Given the description of an element on the screen output the (x, y) to click on. 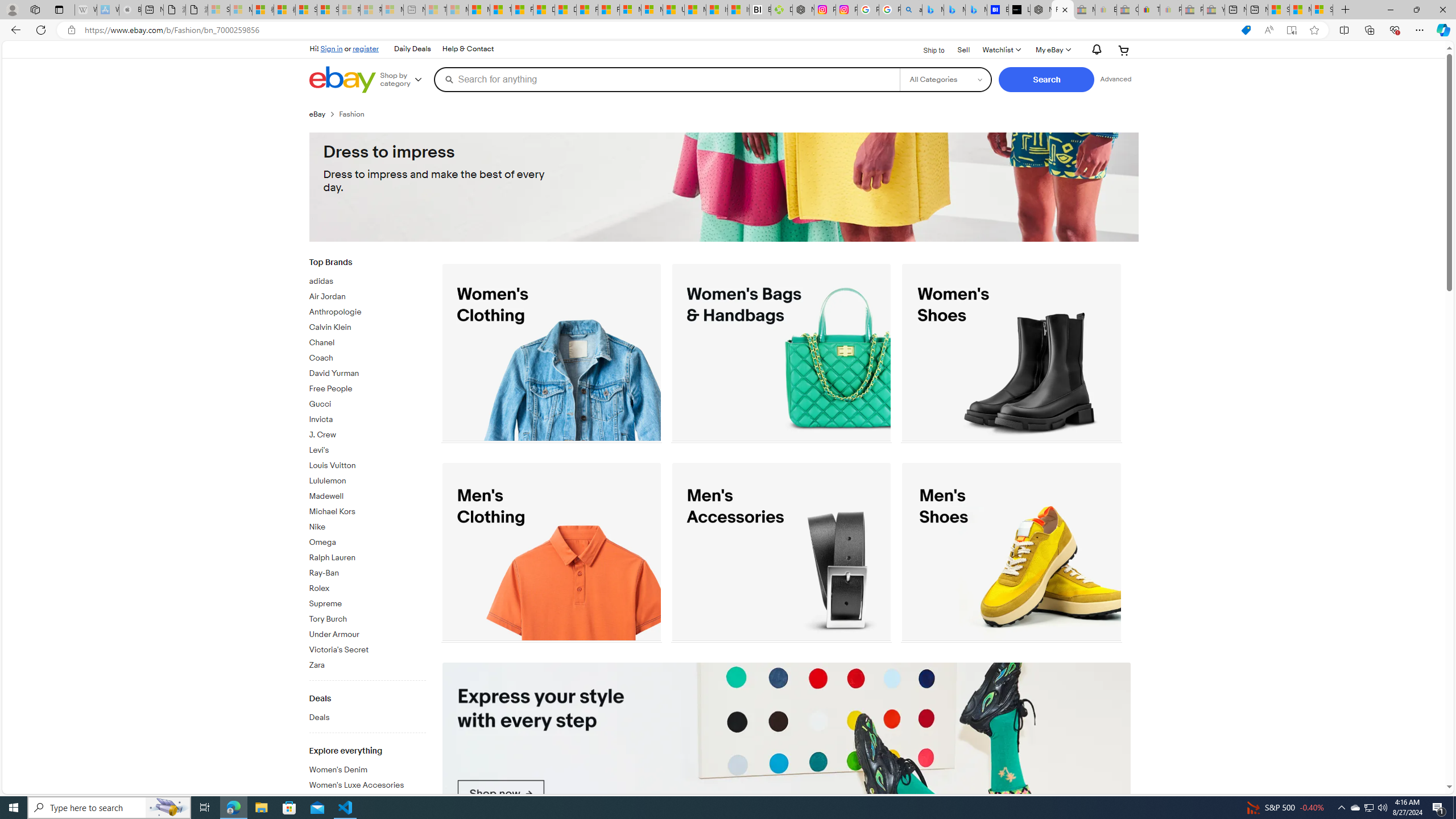
Women's Denim (367, 769)
eBay (323, 113)
J. Crew (367, 432)
Zara (367, 665)
Levi's (367, 450)
Air Jordan (367, 296)
Advanced Search (1115, 78)
Calvin Klein (367, 327)
Threats and offensive language policy | eBay (1149, 9)
